Given the description of an element on the screen output the (x, y) to click on. 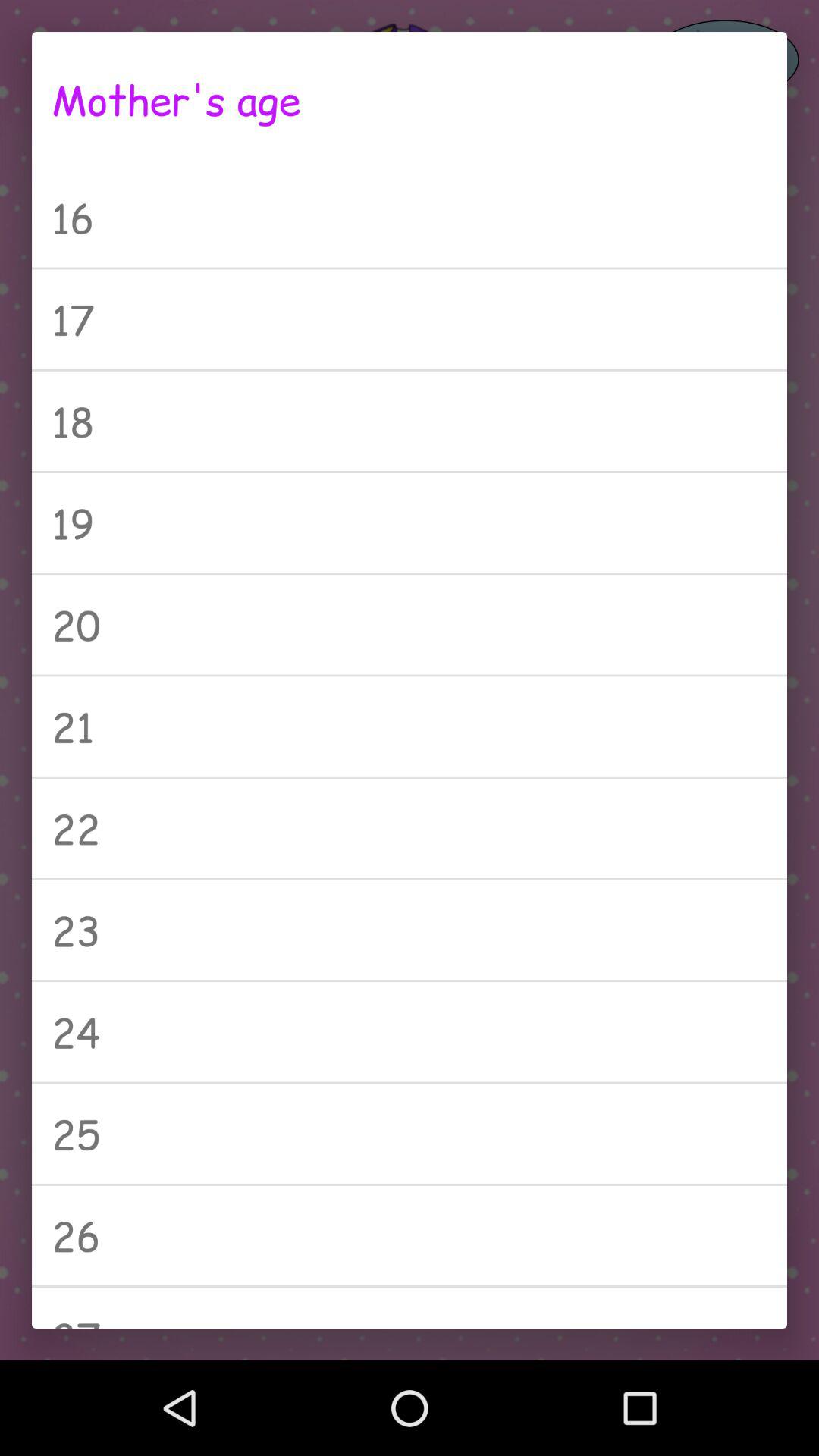
choose the 19 item (409, 522)
